Given the description of an element on the screen output the (x, y) to click on. 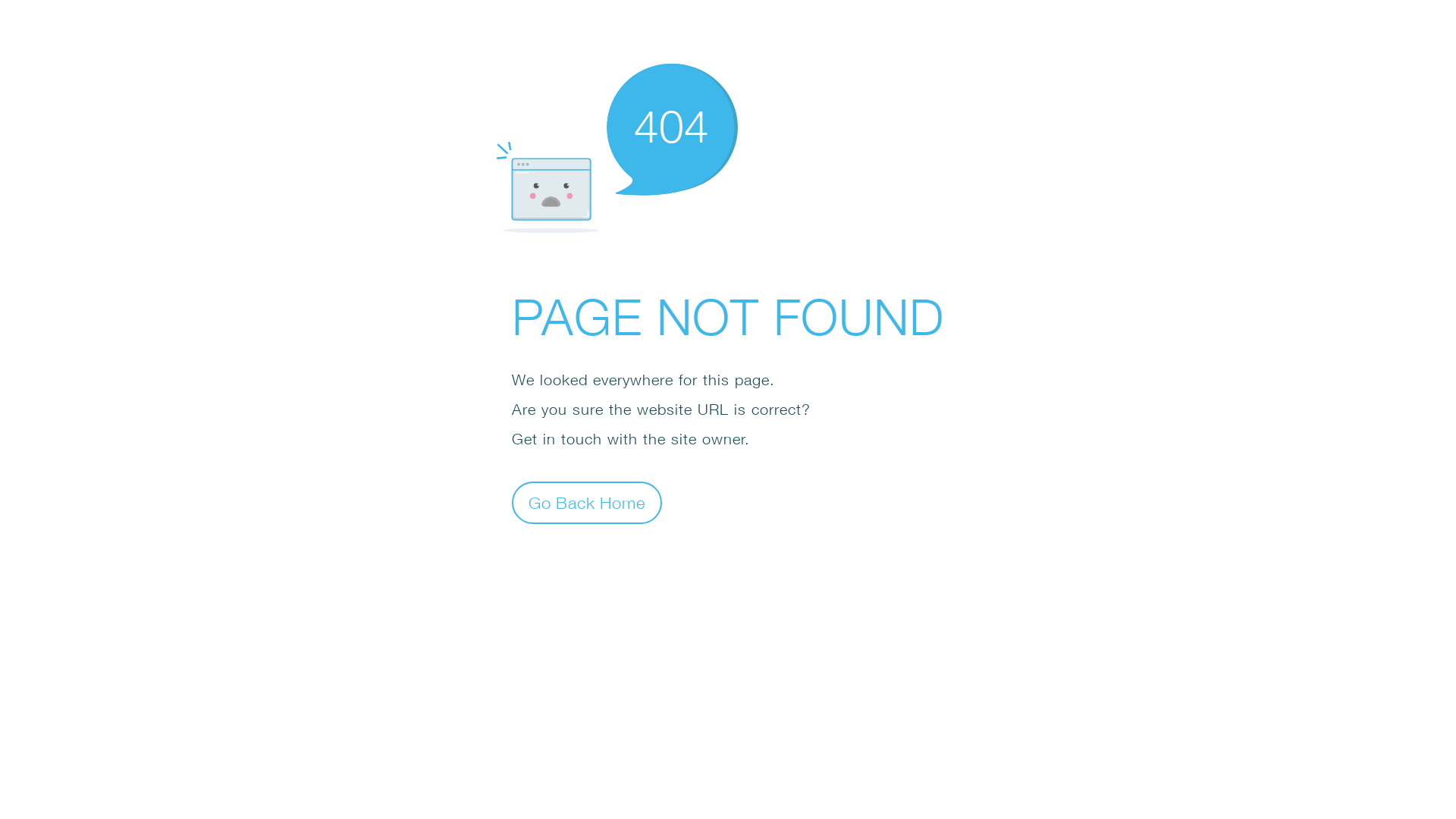
Go Back Home Element type: text (586, 502)
